Given the description of an element on the screen output the (x, y) to click on. 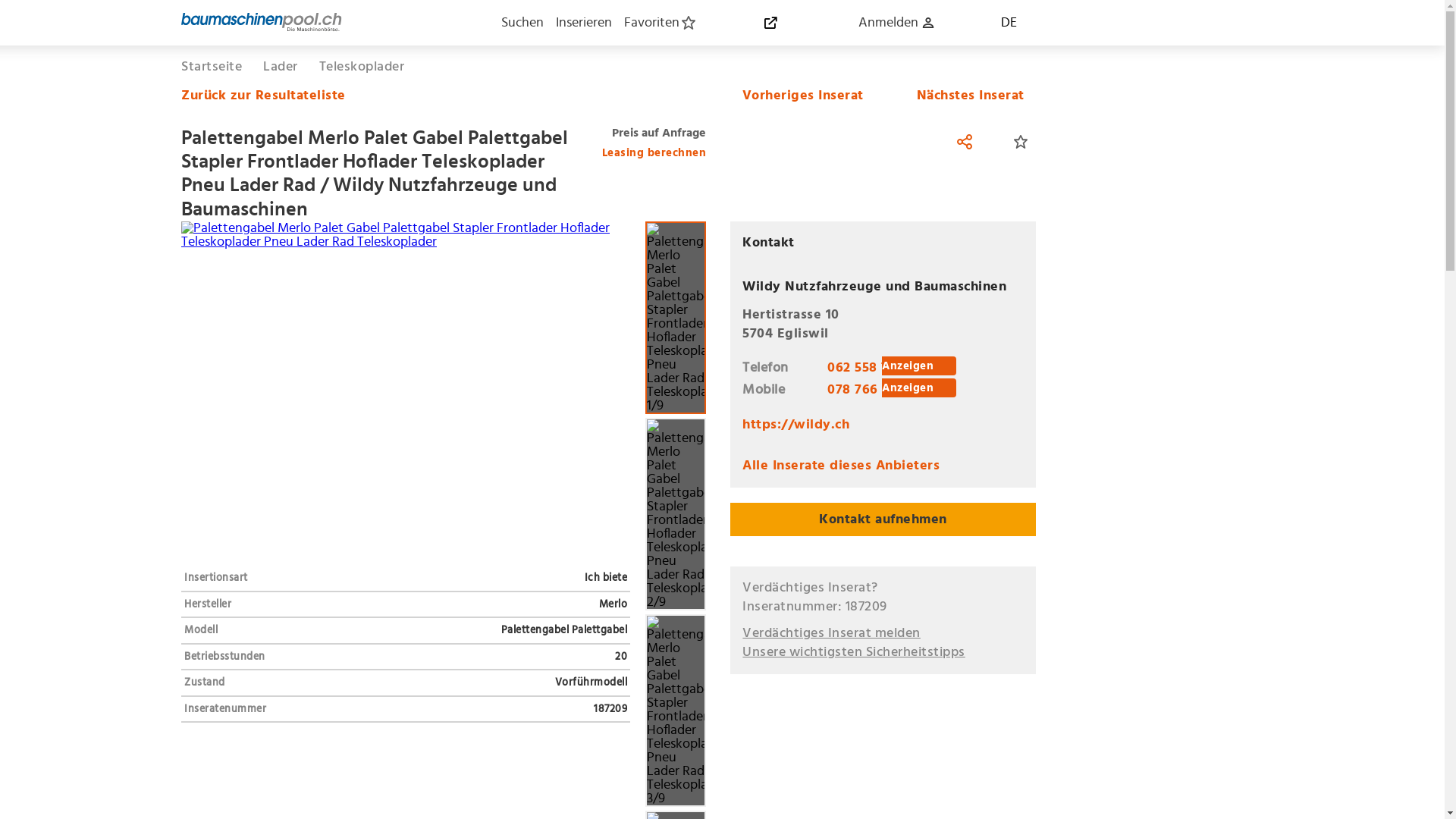
062 558 71 33 Element type: text (870, 367)
Lader Element type: text (280, 66)
Vorheriges Inserat Element type: text (796, 95)
Kontakt aufnehmen Element type: text (882, 519)
Leasing berechnen Element type: text (654, 149)
Anzeigen Element type: text (918, 387)
Unsere wichtigsten Sicherheitstipps Element type: text (853, 651)
Suchen Element type: text (521, 22)
https://wildy.ch Element type: text (795, 424)
drucken Element type: hover (915, 141)
Startseite Element type: text (211, 66)
Merken Element type: hover (1020, 141)
078 766 42 43 Element type: text (871, 389)
Anzeigen Element type: text (918, 365)
Facebook Element type: hover (964, 141)
Inserieren Element type: text (583, 22)
Anmelden Element type: text (896, 22)
Teleskoplader Element type: text (361, 66)
Favoriten Element type: text (659, 22)
Alle Inserate dieses Anbieters Element type: text (840, 465)
